Given the description of an element on the screen output the (x, y) to click on. 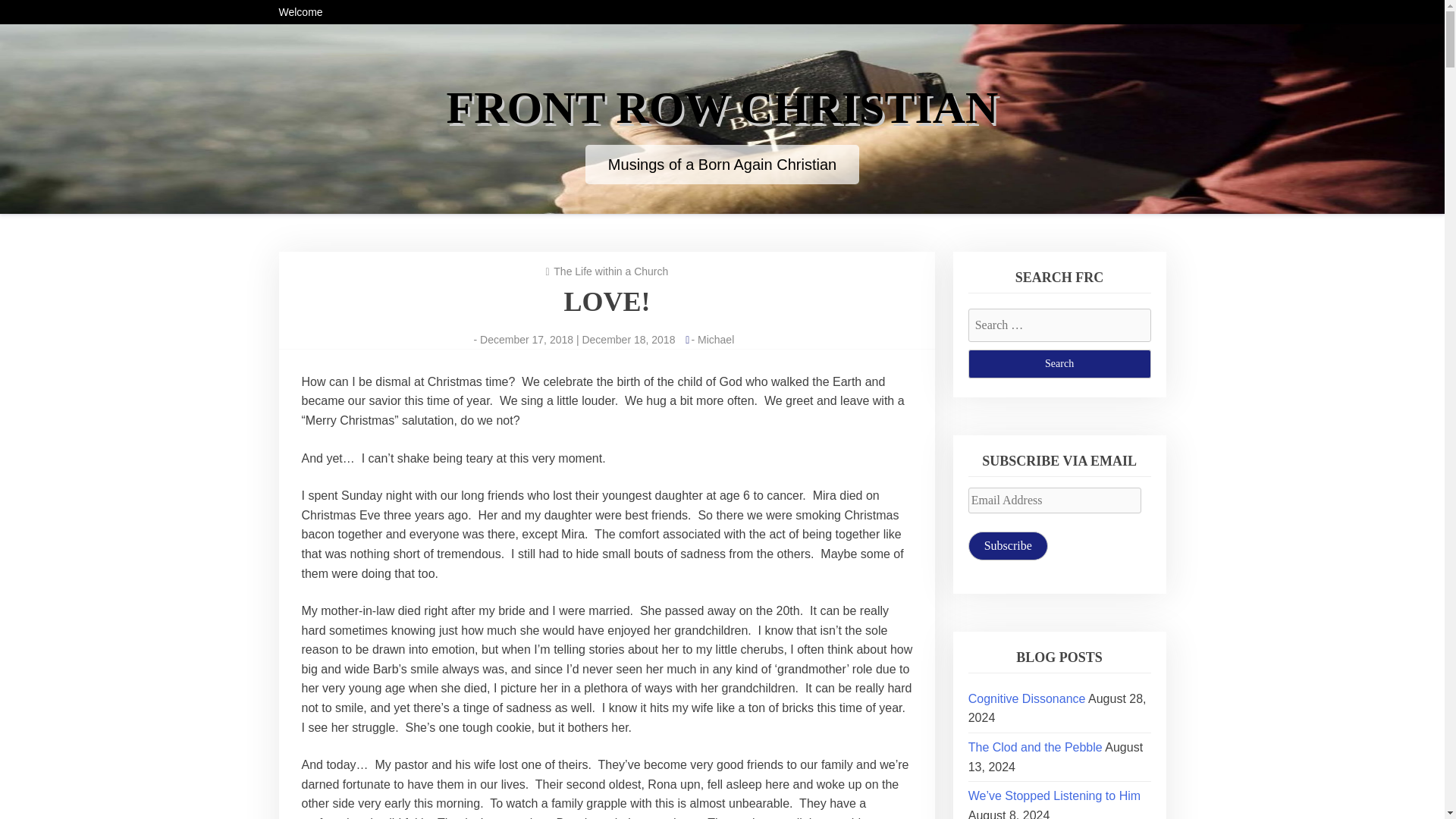
FRONT ROW CHRISTIAN (722, 107)
The Clod and the Pebble (1035, 747)
Cognitive Dissonance (1027, 698)
Michael (715, 339)
The Life within a Church (610, 271)
Search (1059, 363)
Search (1059, 363)
Search (1059, 363)
Subscribe (1008, 545)
